Given the description of an element on the screen output the (x, y) to click on. 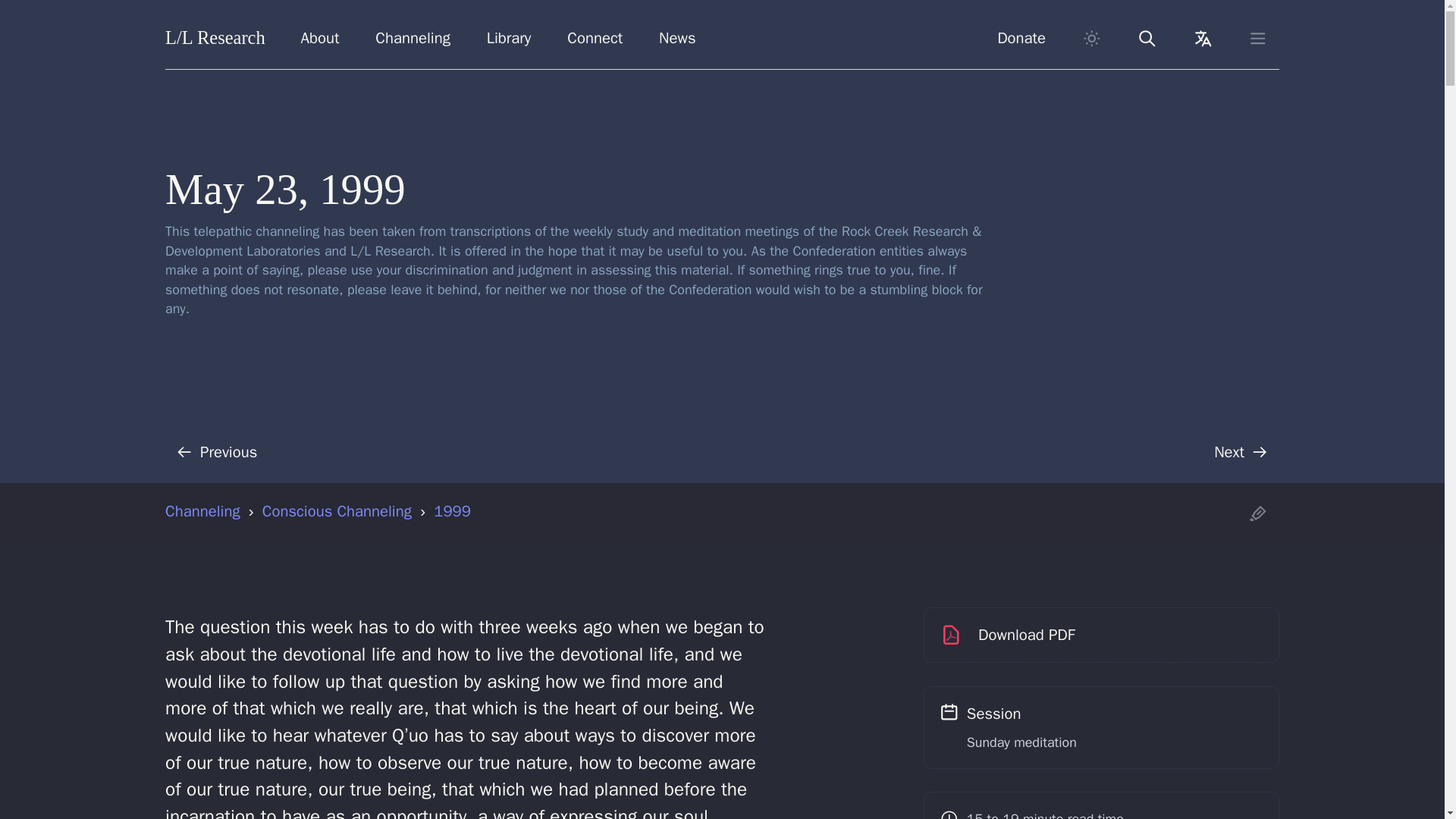
Search (1147, 38)
Donate (1021, 38)
